Given the description of an element on the screen output the (x, y) to click on. 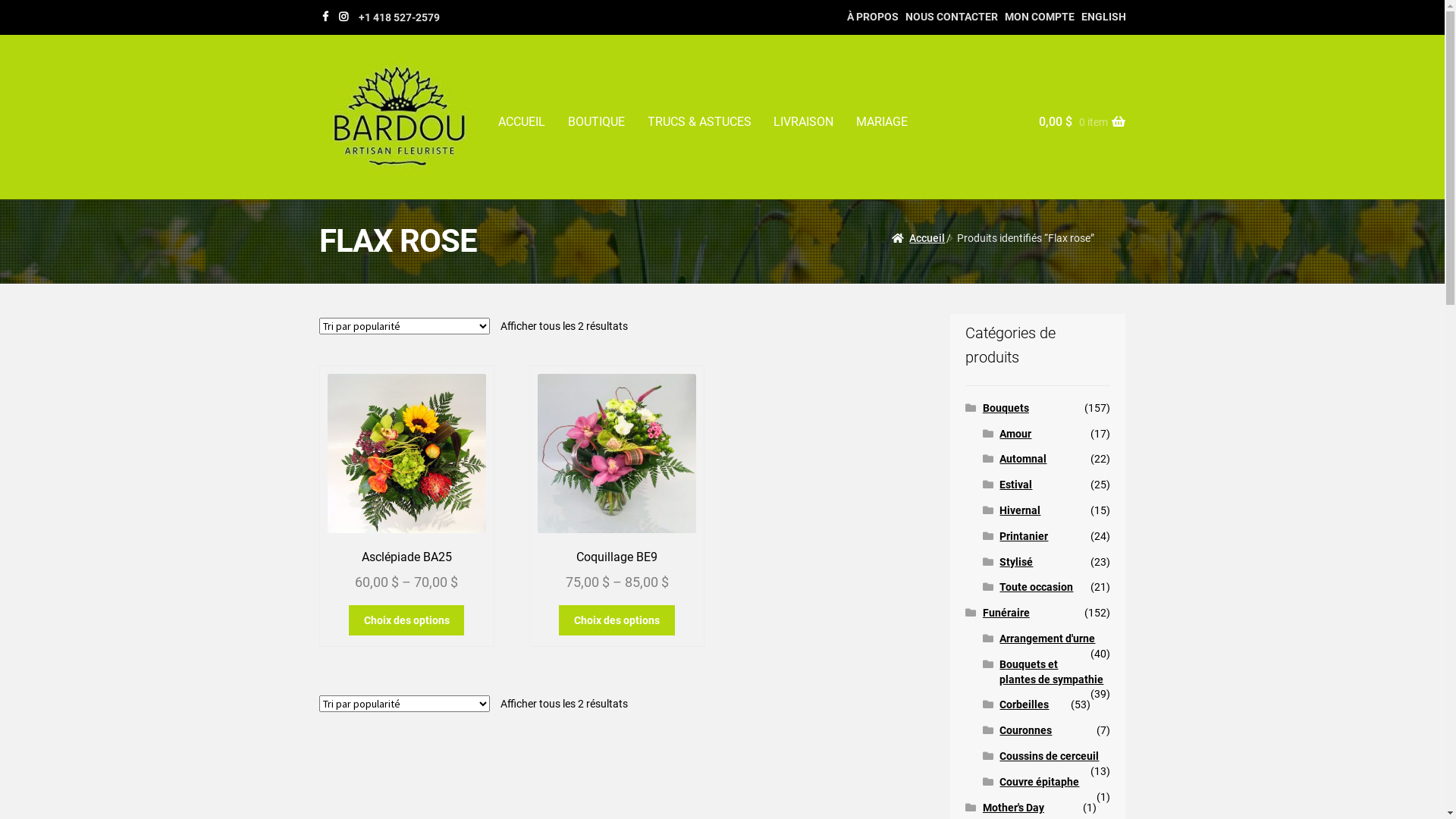
Hivernal Element type: text (1019, 510)
Bouquets Element type: text (1005, 407)
Choix des options Element type: text (406, 620)
Choix des options Element type: text (616, 620)
MARIAGE Element type: text (881, 121)
Mother's Day Element type: text (1013, 807)
Couronnes Element type: text (1025, 730)
ENGLISH Element type: text (1103, 16)
TRUCS & ASTUCES Element type: text (699, 121)
Estival Element type: text (1015, 484)
Arrangement d'urne Element type: text (1047, 638)
https://www.facebook.com/bardoufleuriste.ca/ Element type: hover (325, 16)
Coussins de cerceuil Element type: text (1048, 755)
ACCUEIL Element type: text (522, 121)
BOUTIQUE Element type: text (596, 121)
https://www.instagram.com/bardoufleuriste/ Element type: hover (343, 16)
0,00 $ 0 item Element type: text (1075, 137)
Accueil Element type: text (918, 238)
Corbeilles Element type: text (1023, 704)
Toute occasion Element type: text (1036, 586)
LIVRAISON Element type: text (803, 121)
Automnal Element type: text (1022, 458)
MON COMPTE Element type: text (1039, 16)
Printanier Element type: text (1023, 536)
NOUS CONTACTER Element type: text (951, 16)
Amour Element type: text (1015, 433)
Bouquets et plantes de sympathie Element type: text (1051, 671)
